Given the description of an element on the screen output the (x, y) to click on. 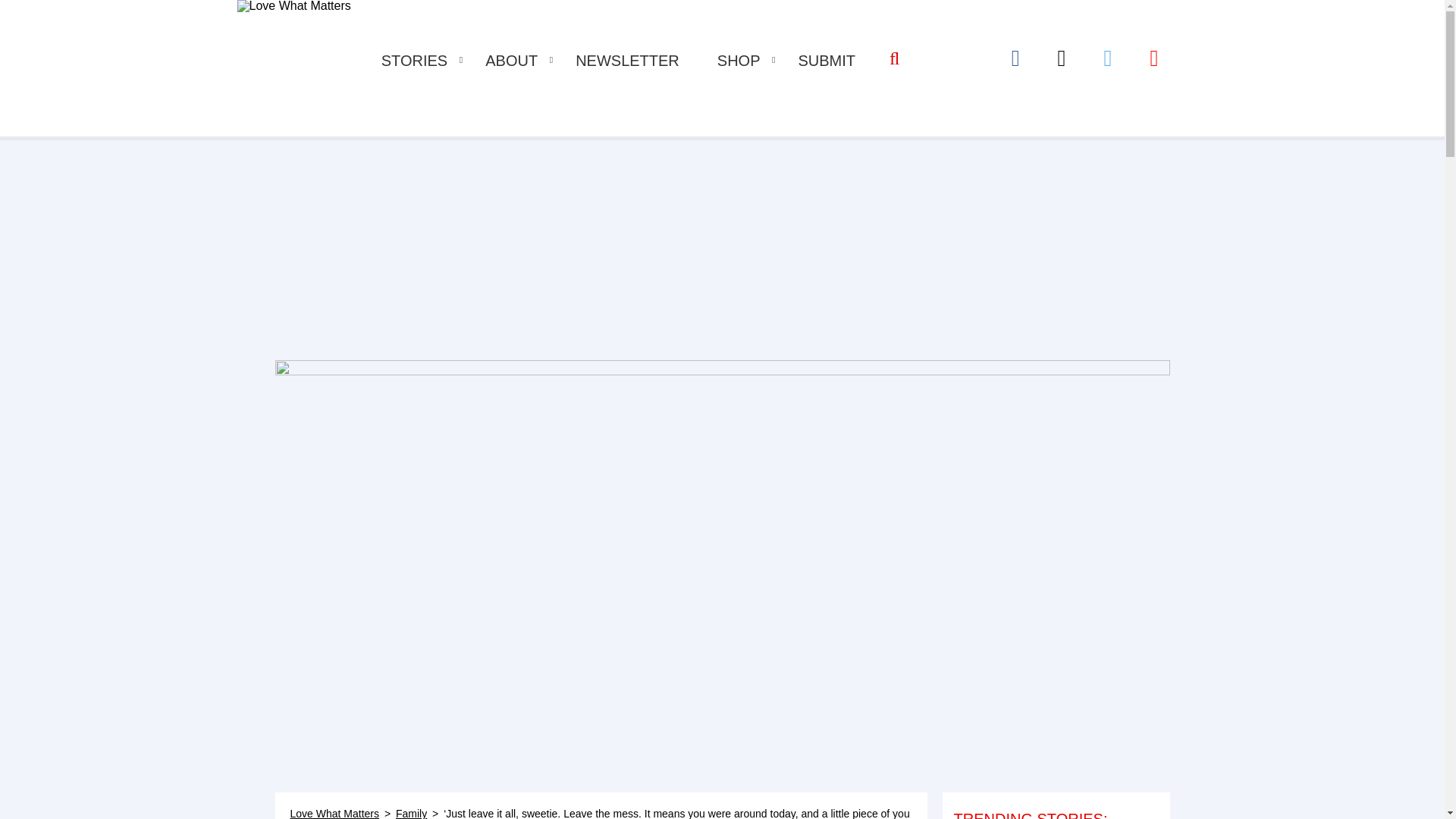
STORIES (414, 60)
NEWSLETTER (627, 60)
SUBMIT (826, 60)
SHOP (738, 60)
ABOUT (511, 60)
